Given the description of an element on the screen output the (x, y) to click on. 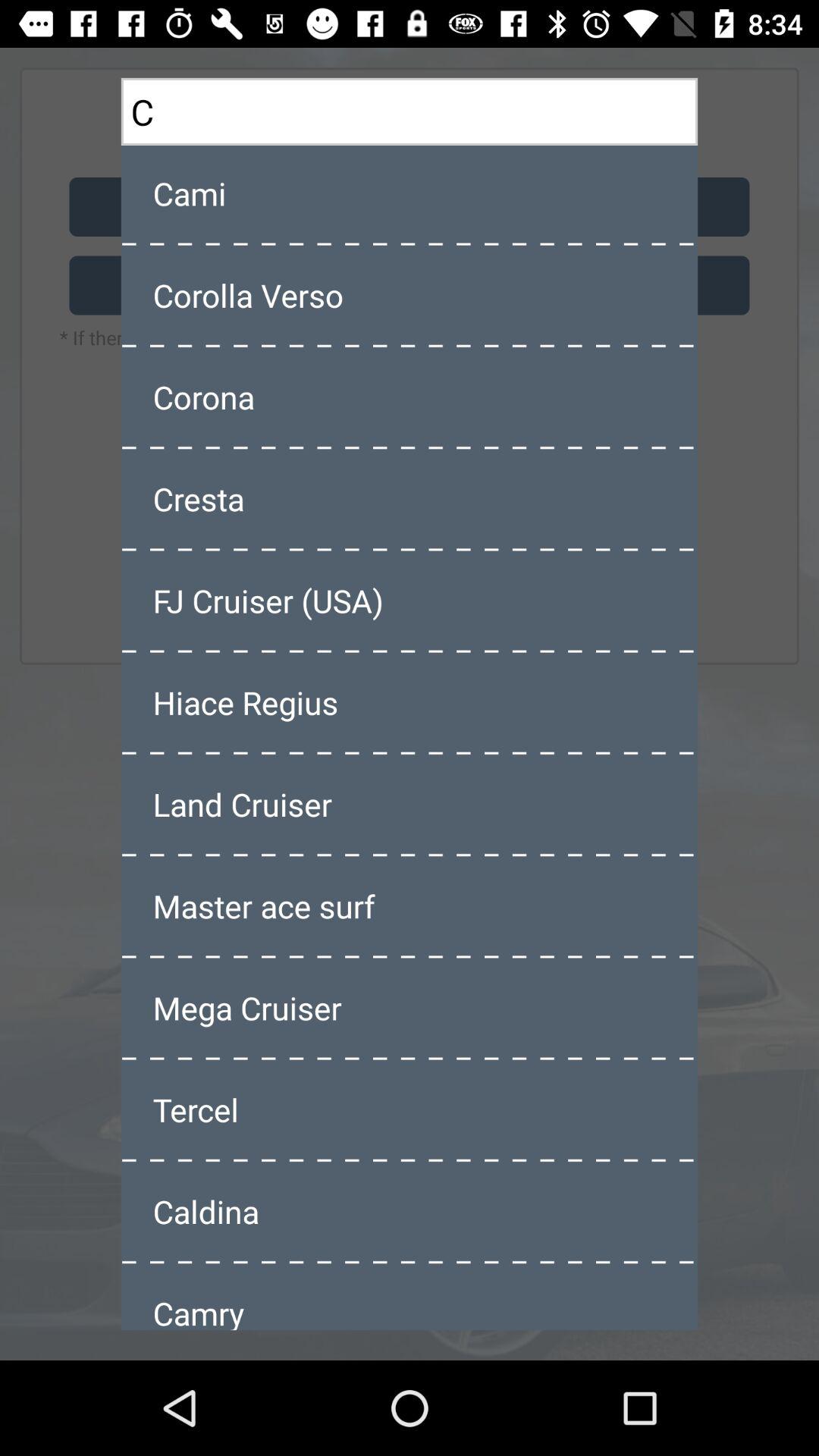
click item above caldina item (409, 1109)
